Given the description of an element on the screen output the (x, y) to click on. 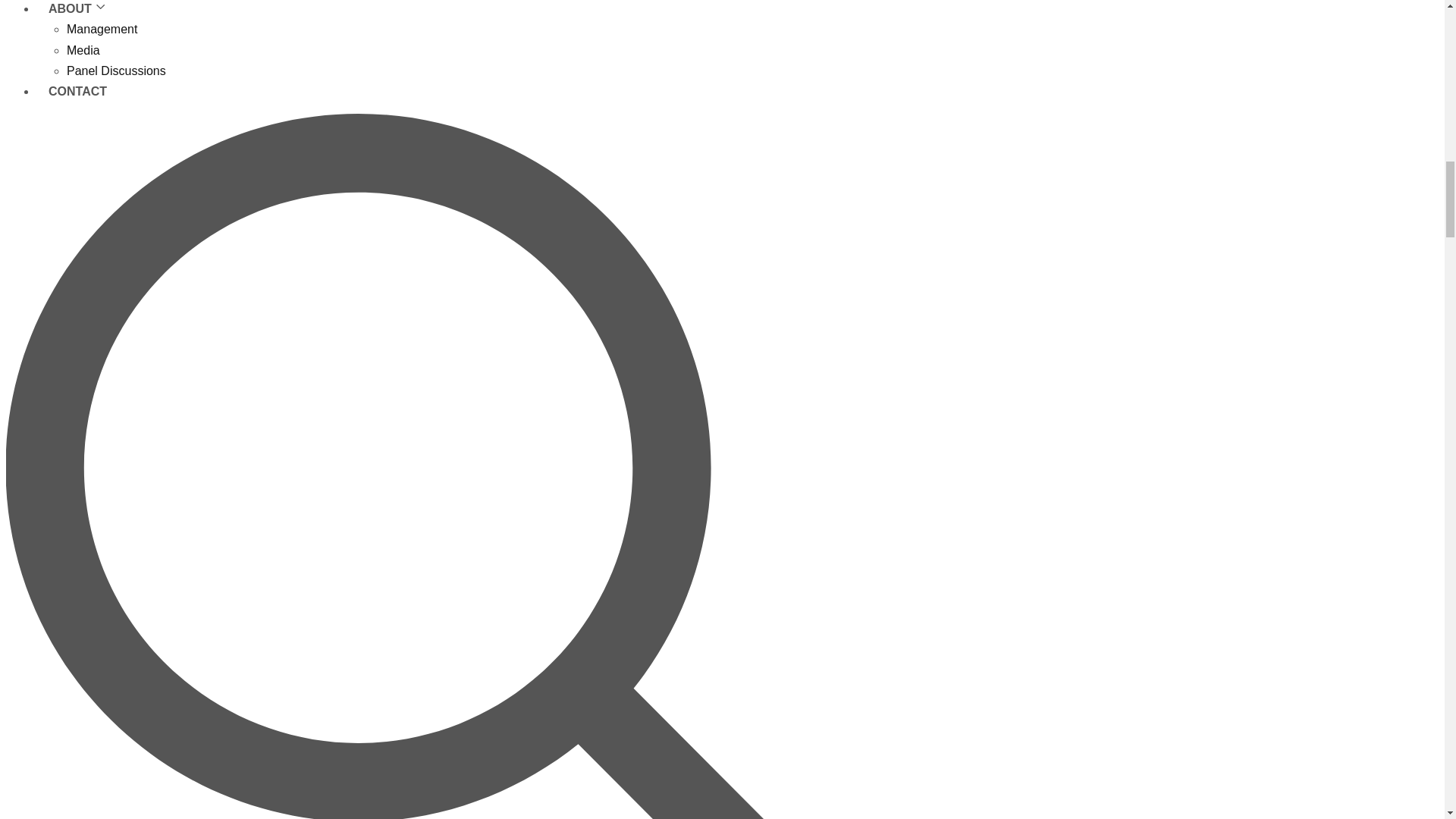
Media (83, 50)
Panel Discussions (115, 70)
BLOG (66, 20)
ABOUT (77, 30)
RESEARCH (82, 9)
Management (101, 29)
